Given the description of an element on the screen output the (x, y) to click on. 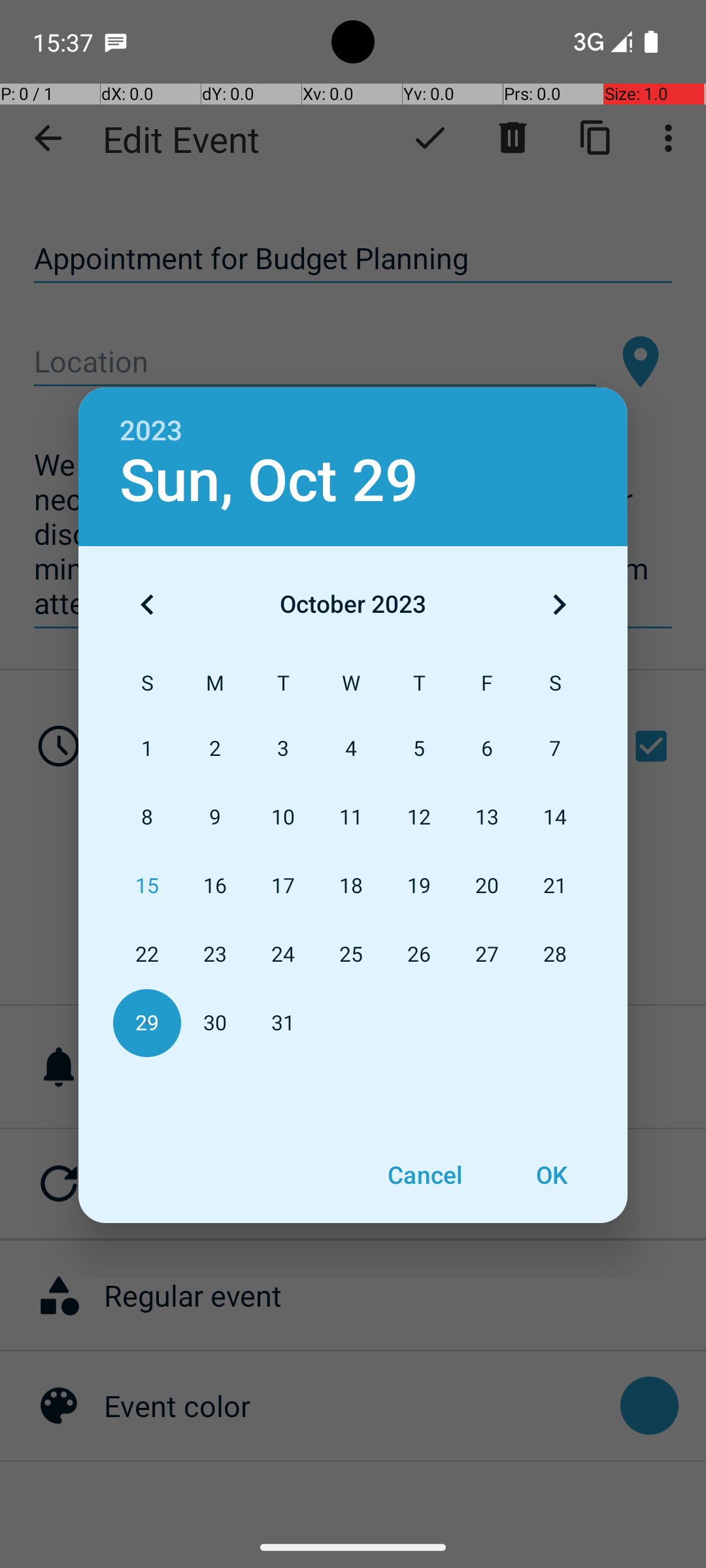
Sun, Oct 29 Element type: android.widget.TextView (268, 480)
15:37 Element type: android.widget.TextView (64, 41)
